Given the description of an element on the screen output the (x, y) to click on. 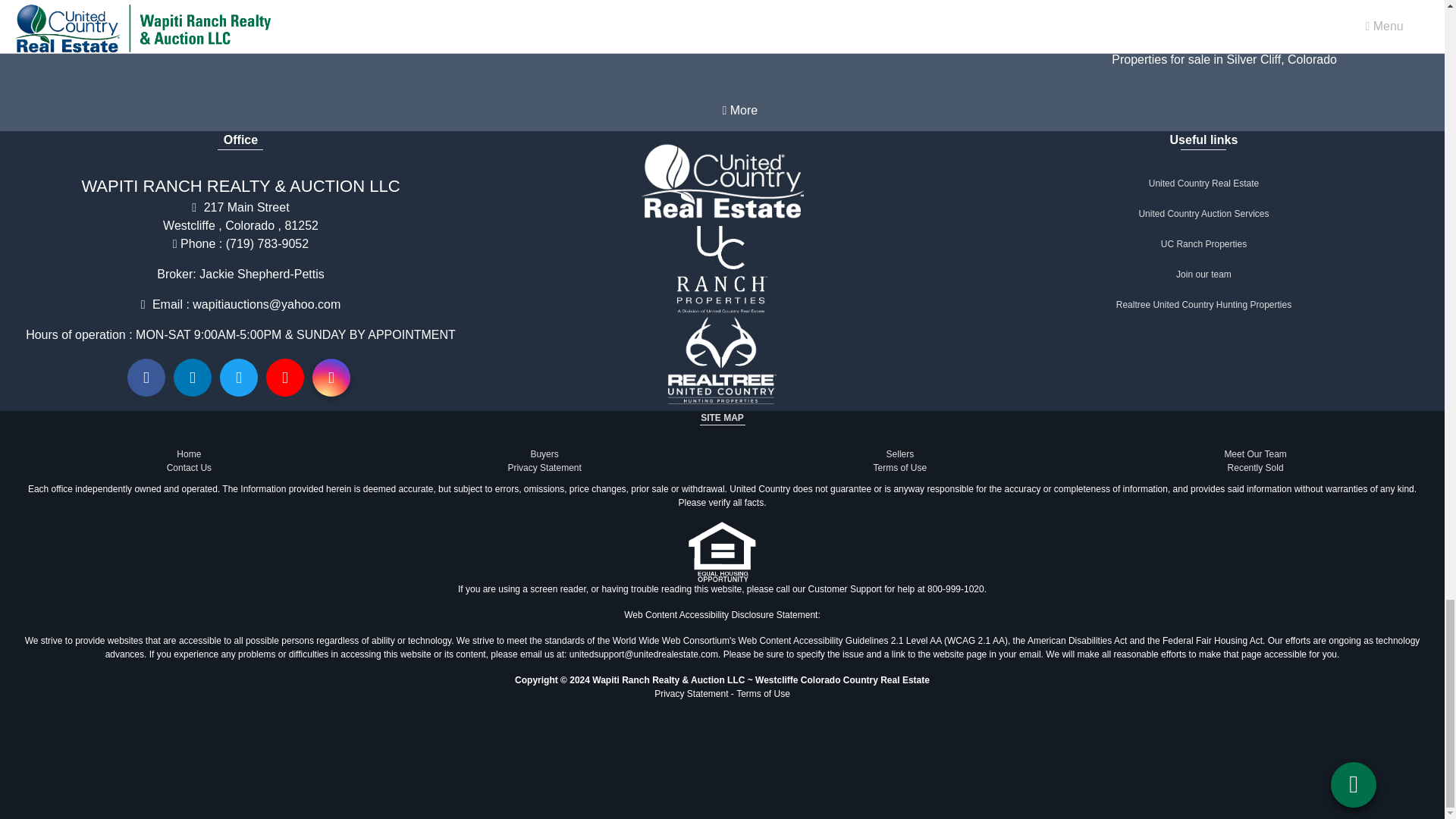
Twitter link (238, 377)
Facebook link (146, 377)
Instagram link (331, 377)
Youtube link (285, 377)
LinkedIn link (192, 377)
Equal Housing Opportunity logo (721, 551)
